Given the description of an element on the screen output the (x, y) to click on. 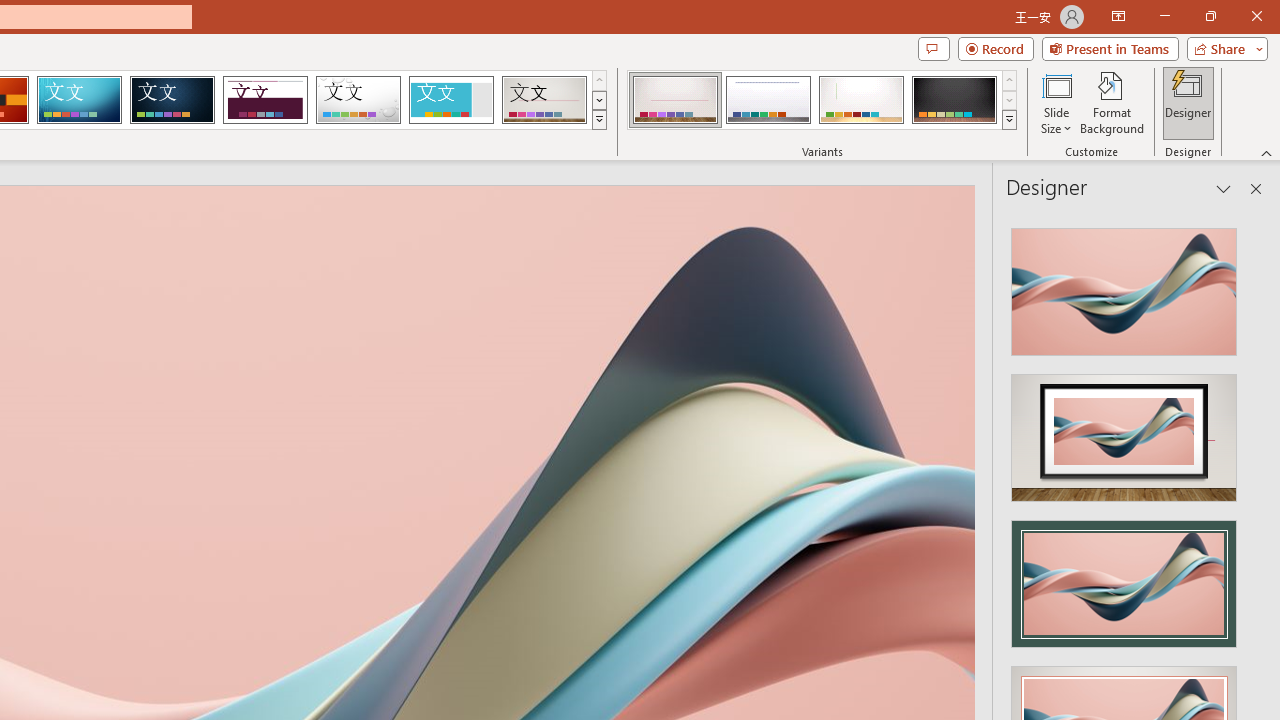
Gallery Variant 1 (674, 100)
Recommended Design: Design Idea (1124, 286)
Damask (171, 100)
Variants (1009, 120)
Circuit (79, 100)
Gallery Variant 4 (953, 100)
Gallery (544, 100)
Design Idea (1124, 577)
